Given the description of an element on the screen output the (x, y) to click on. 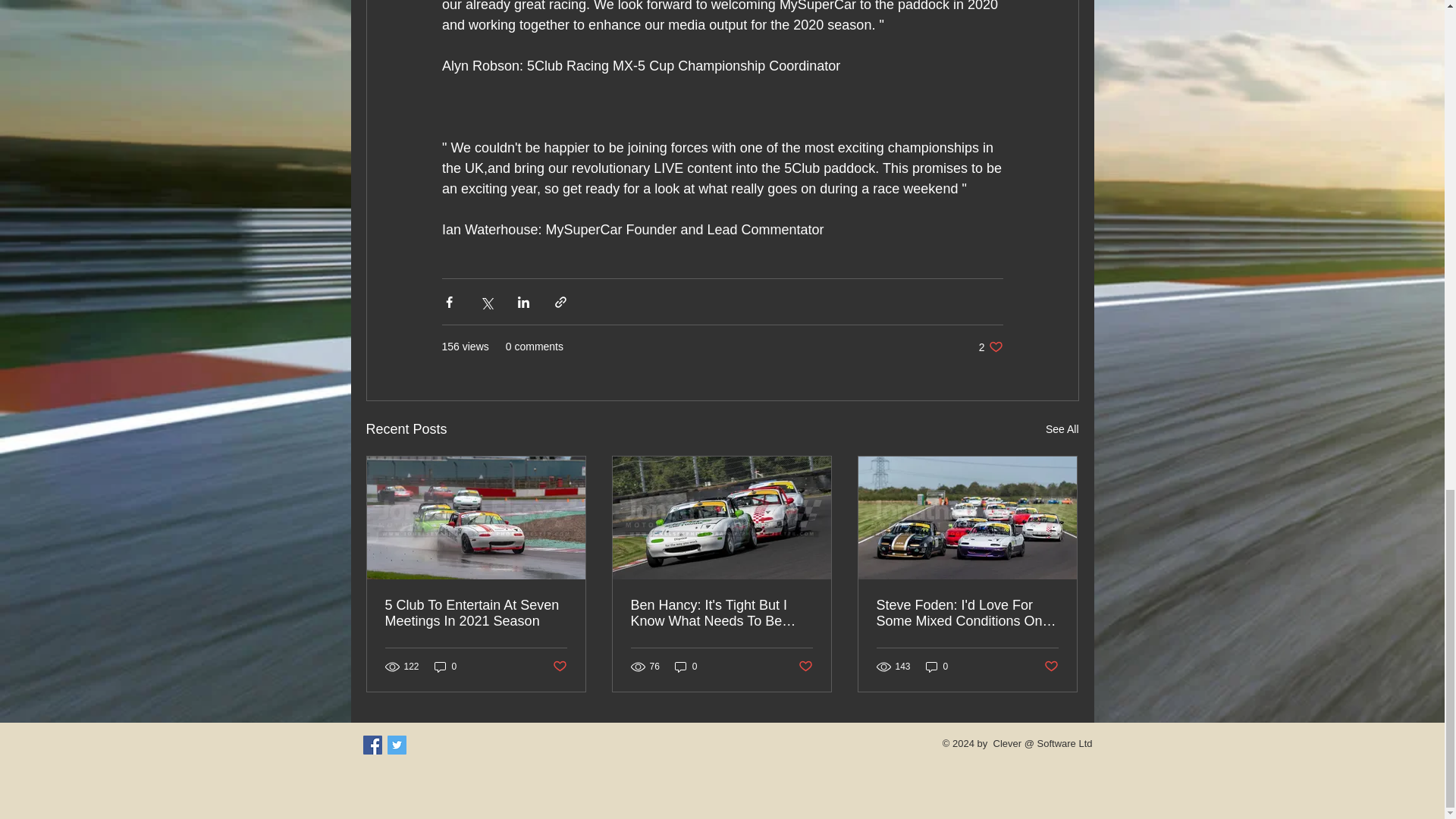
5 Club To Entertain At Seven Meetings In 2021 Season (476, 613)
See All (1061, 429)
Ben Hancy: It's Tight But I Know What Needs To Be Done (721, 613)
Post not marked as liked (804, 666)
0 (990, 346)
Post not marked as liked (937, 667)
Post not marked as liked (1050, 666)
Steve Foden: I'd Love For Some Mixed Conditions On Sunday (558, 666)
0 (967, 613)
0 (445, 667)
